Given the description of an element on the screen output the (x, y) to click on. 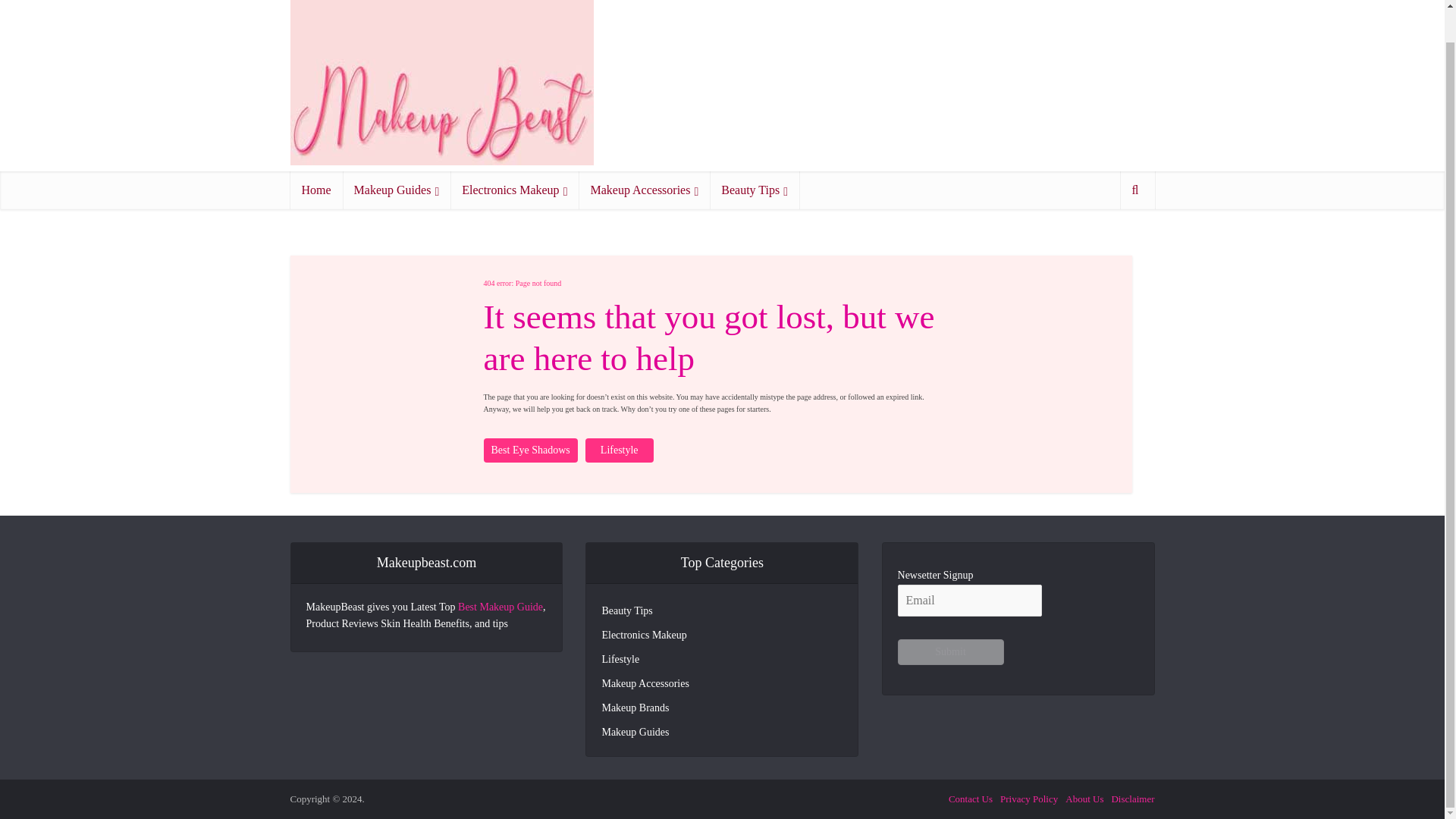
Makeup Accessories (644, 190)
Makeup Guides (396, 190)
Electronics Makeup (513, 190)
Beauty Tips (754, 190)
Home (315, 190)
